Given the description of an element on the screen output the (x, y) to click on. 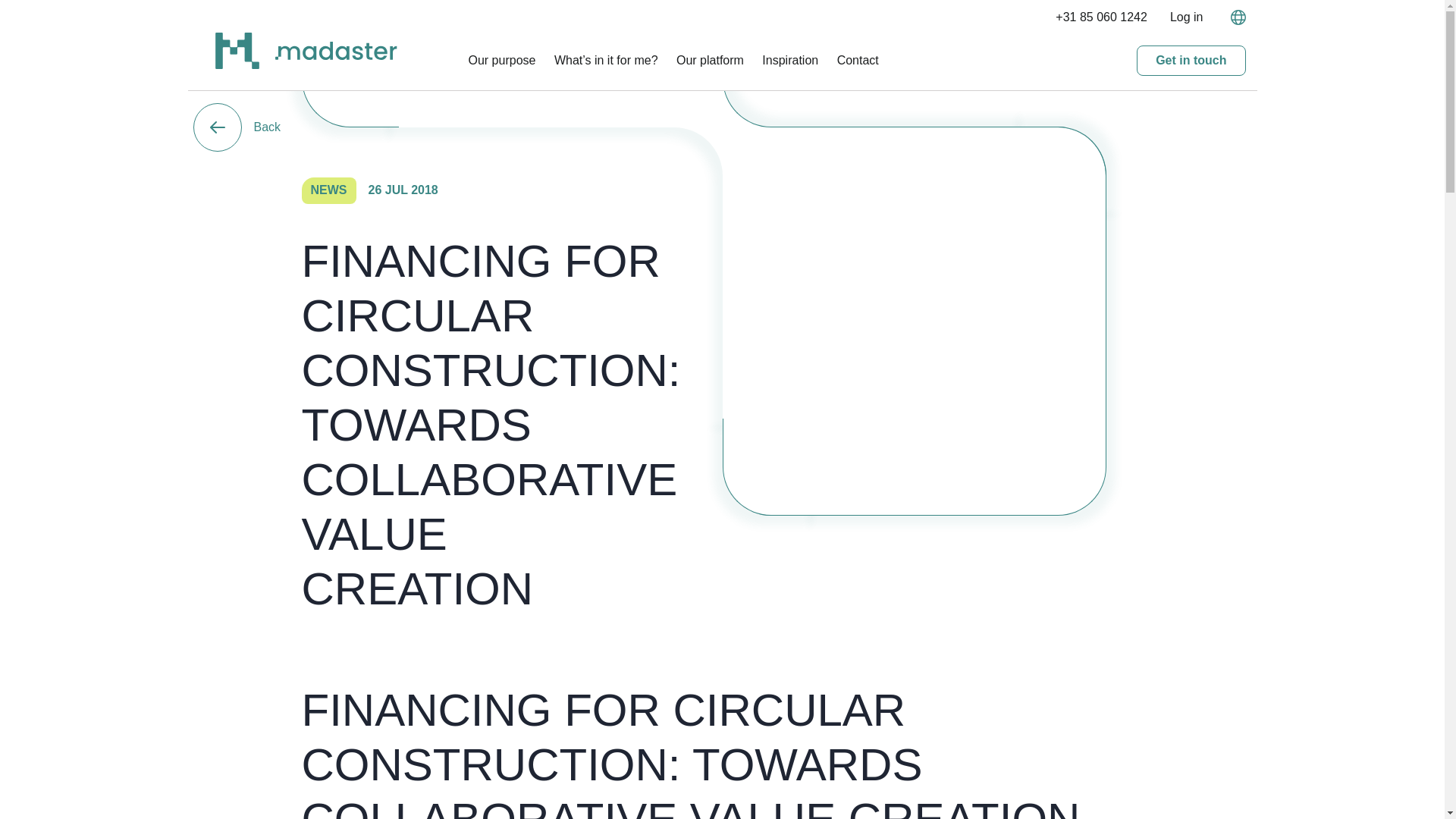
Our purpose (501, 60)
Get in touch (1190, 60)
Madaster Global (335, 55)
Madaster Global (236, 64)
Choose your country and language (1232, 17)
Contact (858, 60)
Call us (1101, 16)
Log in (1187, 16)
Back (236, 127)
Our platform (710, 60)
Inspiration (789, 60)
Get in touch (1190, 60)
Log in (1187, 16)
